Given the description of an element on the screen output the (x, y) to click on. 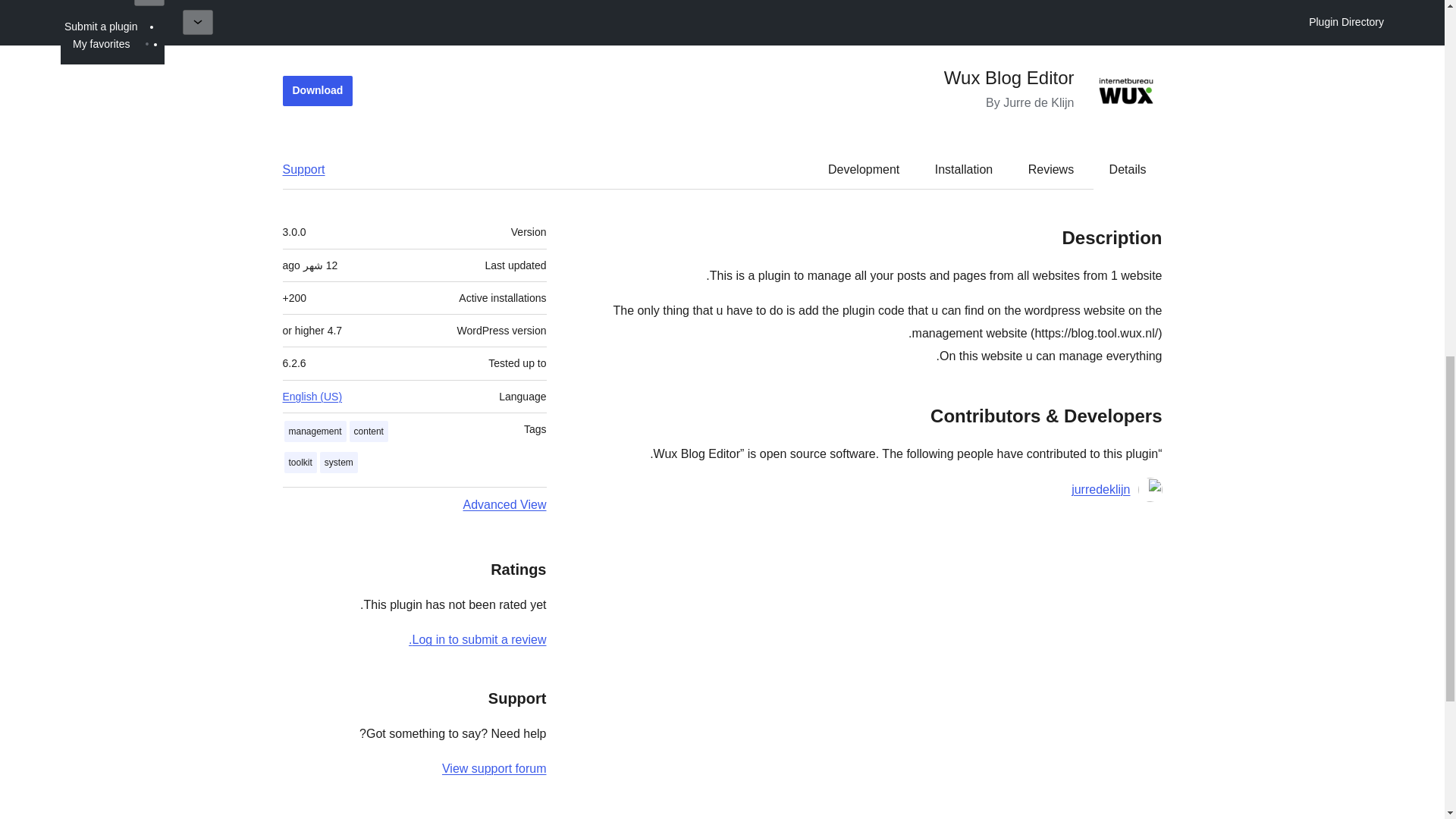
Reviews (1051, 169)
content (368, 431)
Details (1127, 169)
management (314, 431)
Log in to WordPress.org (477, 639)
Support (310, 169)
jurredeklijn (1100, 489)
Download (317, 91)
Development (863, 169)
Installation (964, 169)
